Given the description of an element on the screen output the (x, y) to click on. 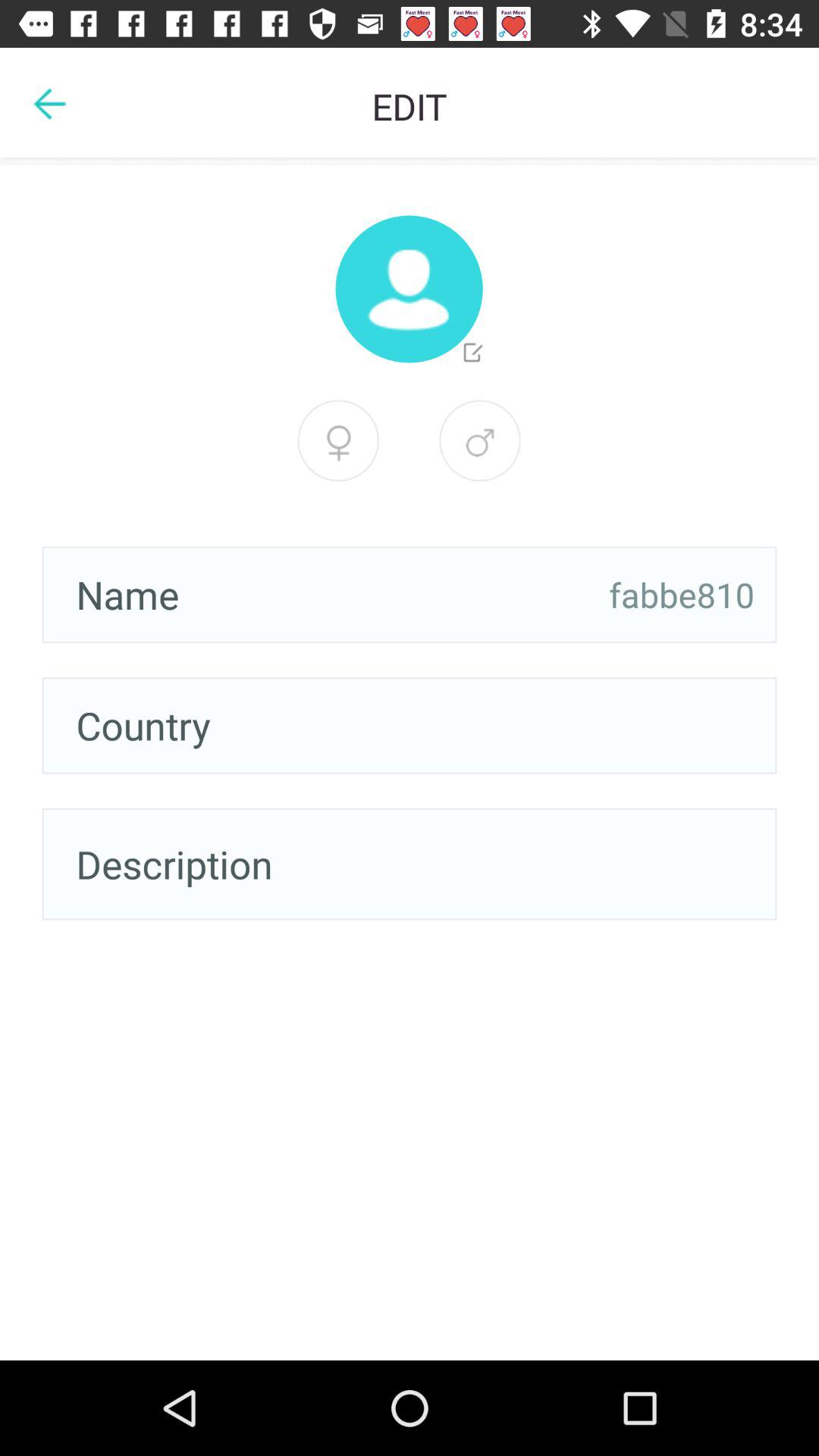
launch the item on the right (681, 594)
